Given the description of an element on the screen output the (x, y) to click on. 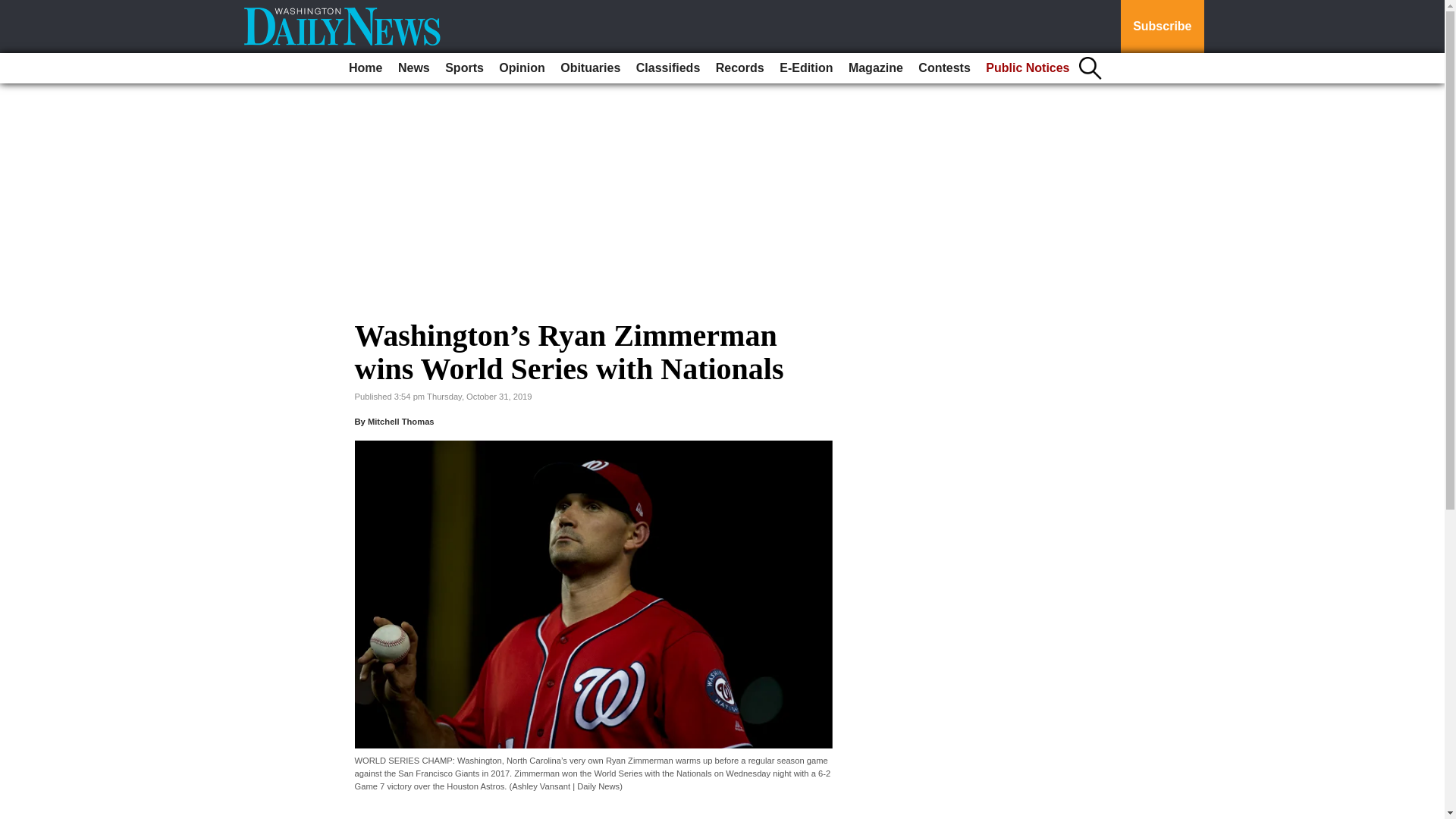
Public Notices (1027, 68)
News (413, 68)
Mitchell Thomas (400, 420)
Records (740, 68)
Classifieds (668, 68)
Obituaries (590, 68)
Magazine (875, 68)
Home (365, 68)
E-Edition (805, 68)
Contests (943, 68)
